Given the description of an element on the screen output the (x, y) to click on. 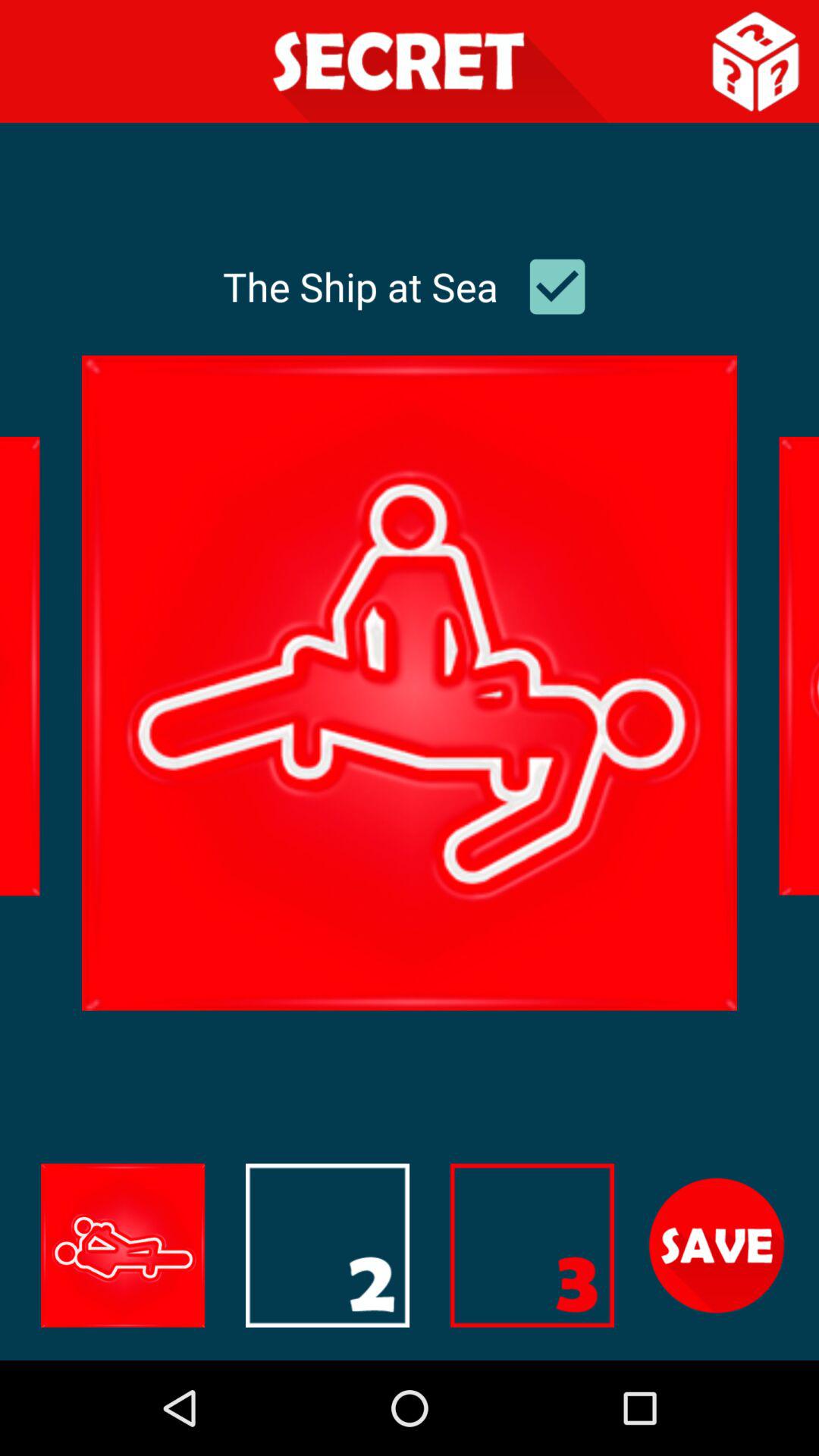
select the image (532, 1245)
